Given the description of an element on the screen output the (x, y) to click on. 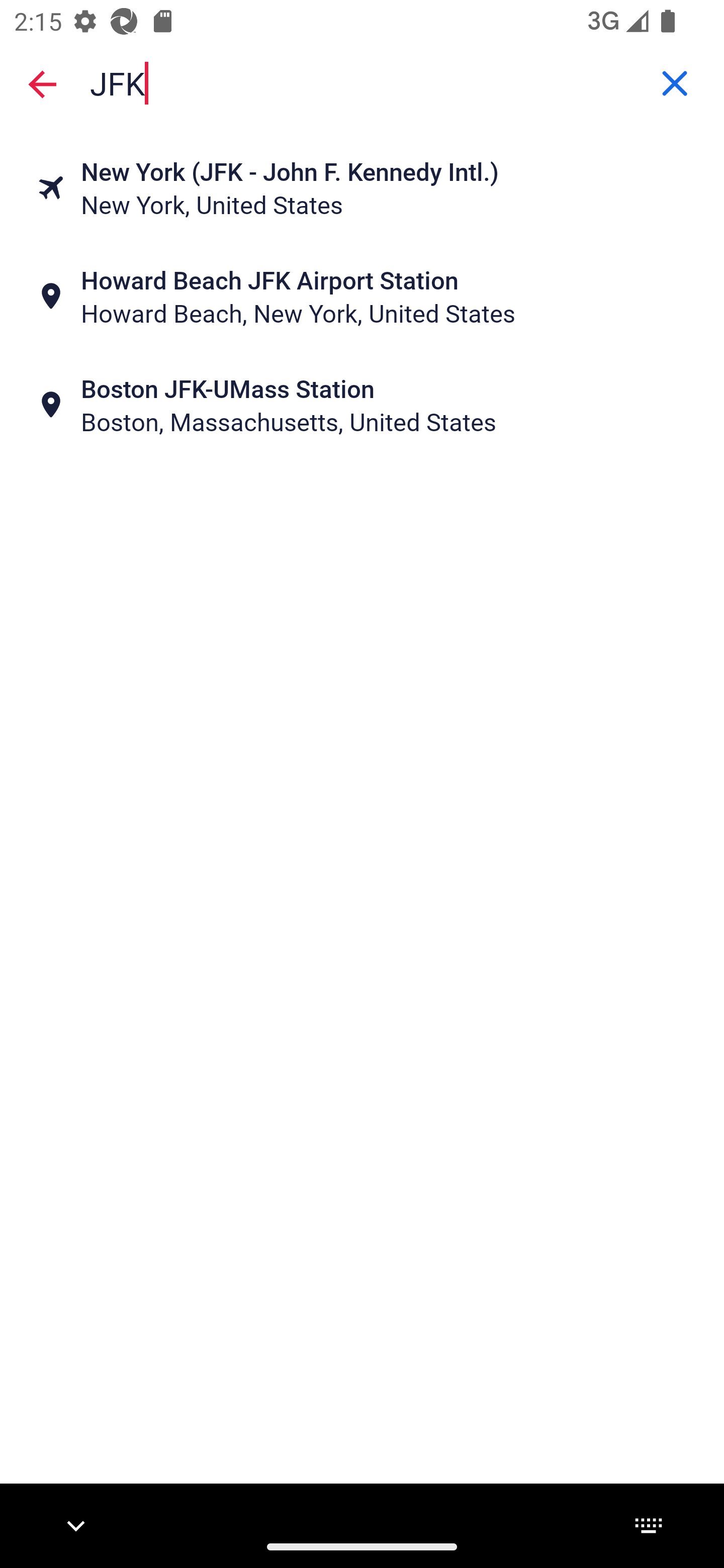
Clear Pick-up (674, 82)
Pick-up, JFK (361, 82)
Close search screen (41, 83)
